Given the description of an element on the screen output the (x, y) to click on. 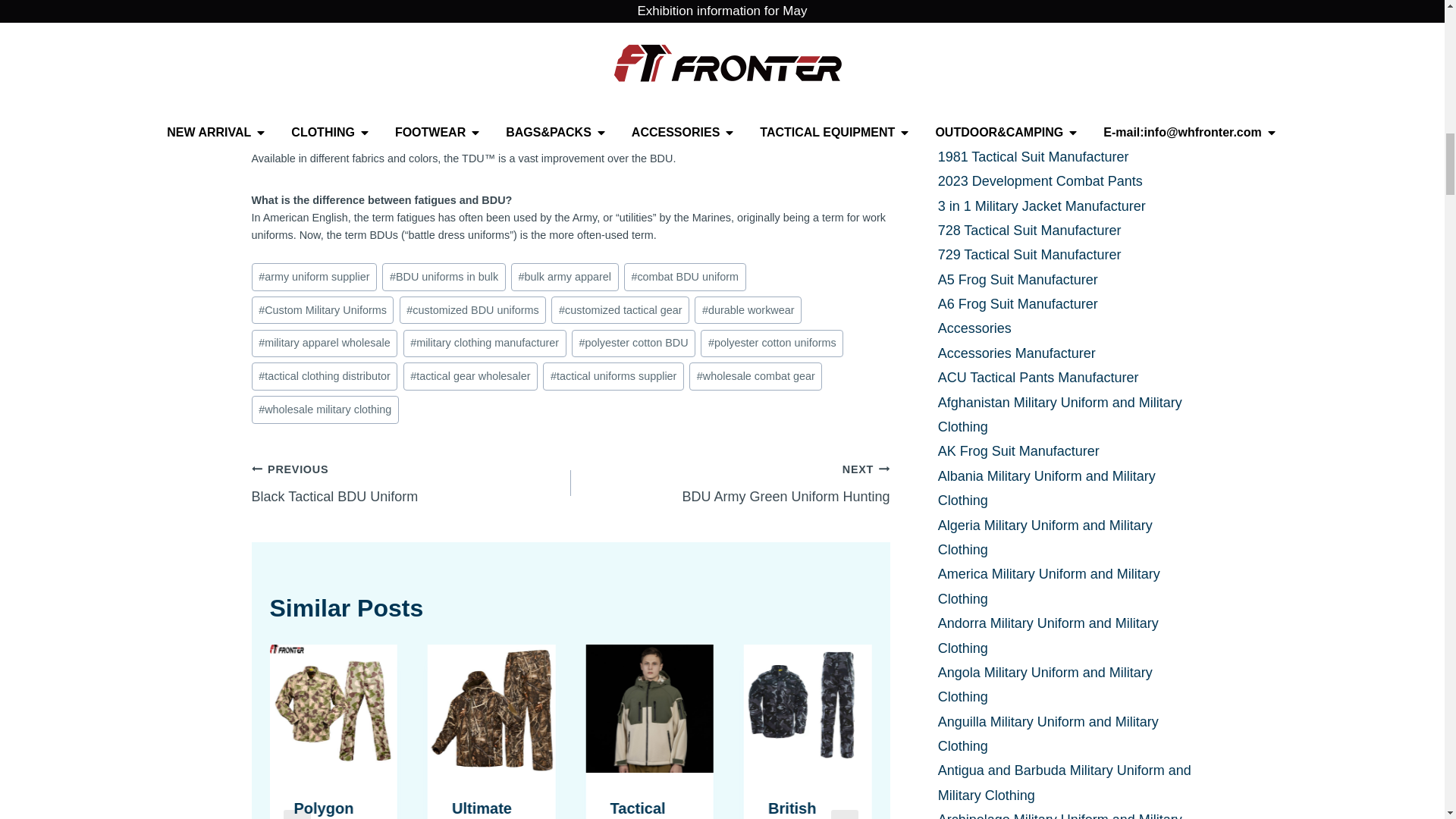
BDU uniforms in bulk (443, 276)
Custom Military Uniforms (322, 310)
army uniform supplier (314, 276)
customized BDU uniforms (472, 310)
customized tactical gear (619, 310)
bulk army apparel (564, 276)
combat BDU uniform (684, 276)
durable workwear (748, 310)
